Given the description of an element on the screen output the (x, y) to click on. 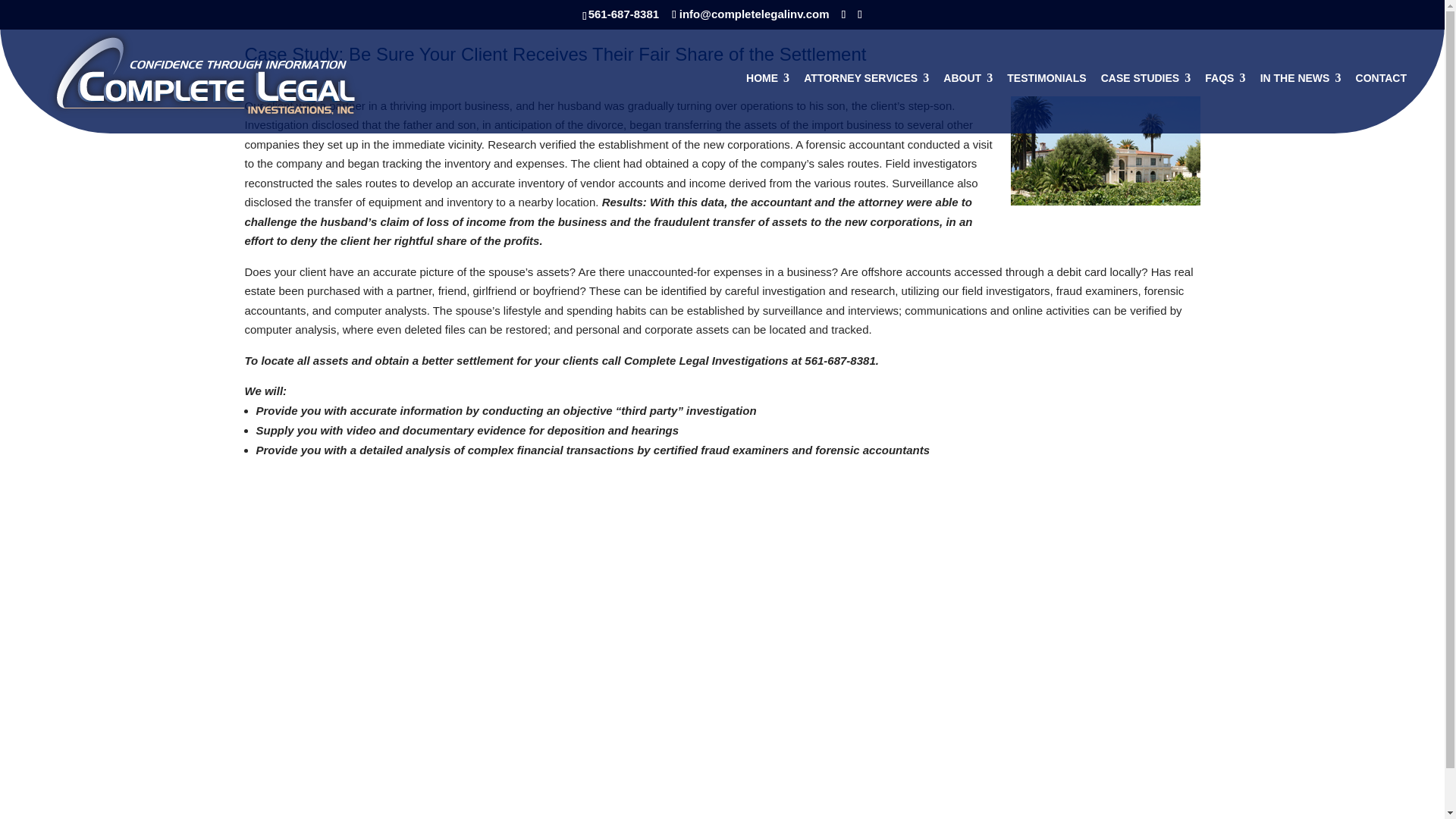
ATTORNEY SERVICES (865, 102)
IN THE NEWS (1300, 102)
CASE STUDIES (1145, 102)
TESTIMONIALS (1046, 102)
